Given the description of an element on the screen output the (x, y) to click on. 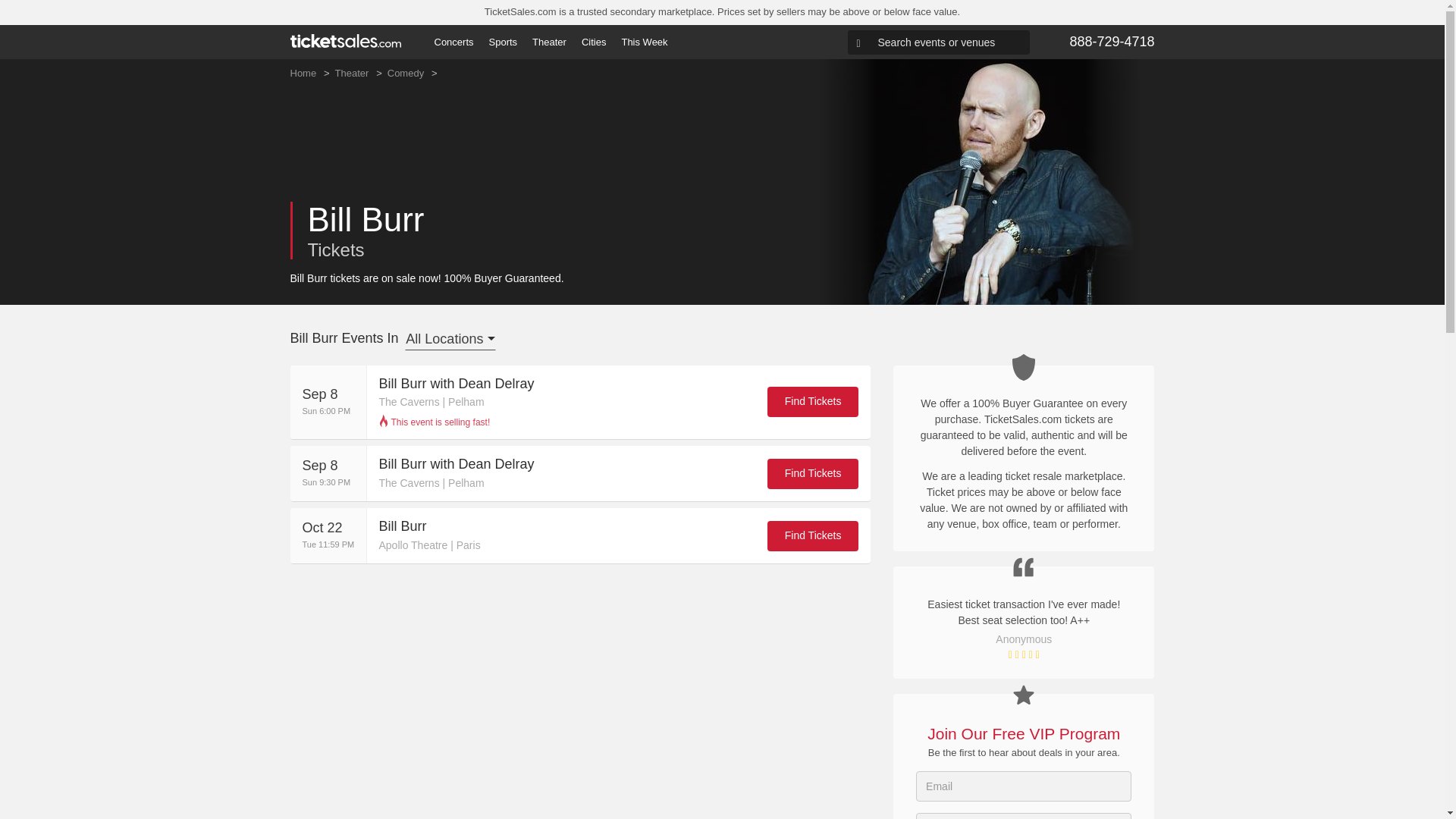
Concerts (453, 42)
TicketSales (344, 40)
TicketSales (344, 40)
